Given the description of an element on the screen output the (x, y) to click on. 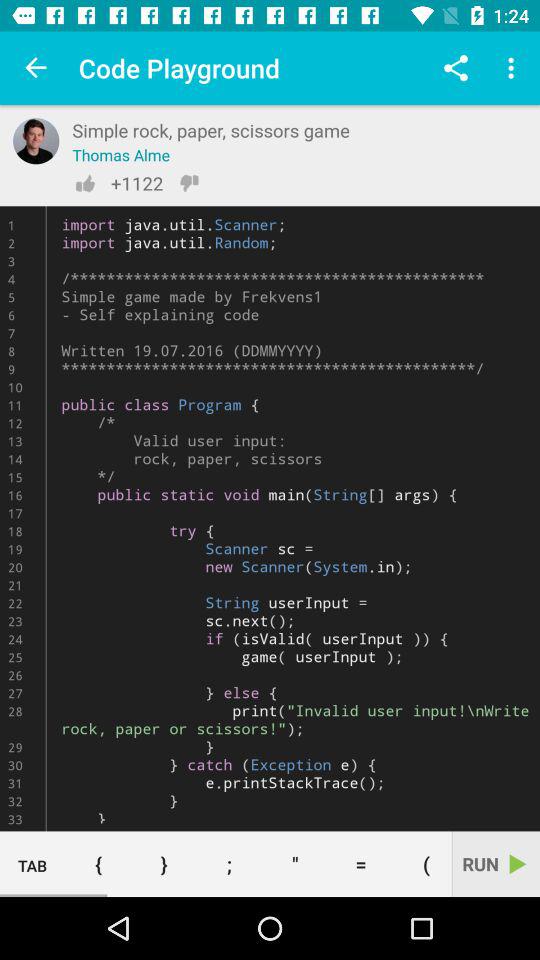
go to users profile (36, 141)
